Given the description of an element on the screen output the (x, y) to click on. 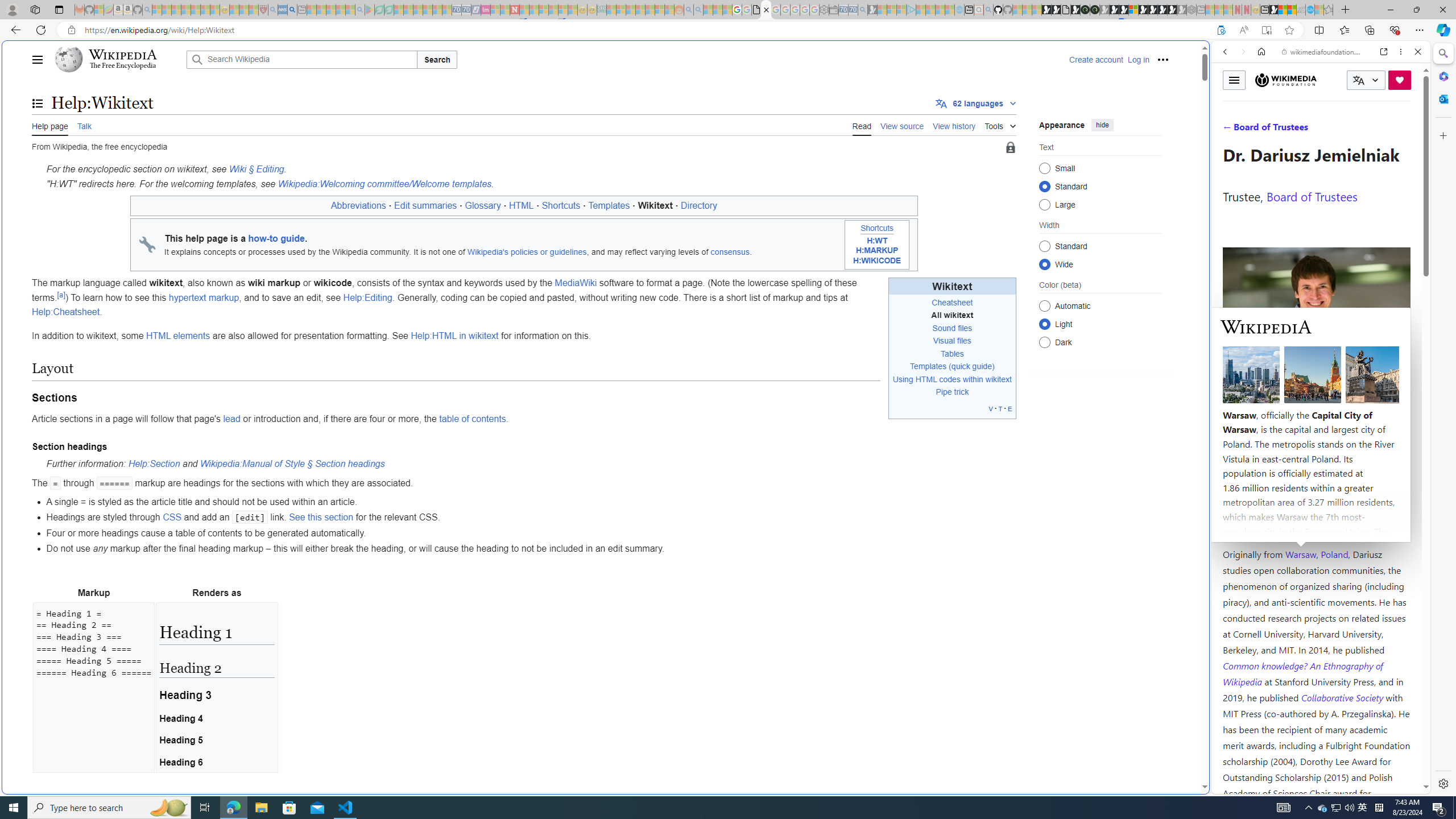
Wikimedia Foundation (1285, 79)
Pipe trick (952, 392)
Large (1044, 204)
CURRENT LANGUAGE: (1366, 80)
Wallet - Sleeping (833, 9)
Wide (1044, 263)
Play Free Online Games | Games from Microsoft Start (1151, 9)
Cheap Hotels - Save70.com - Sleeping (466, 9)
Help page (50, 124)
(quick guide) (971, 366)
